Given the description of an element on the screen output the (x, y) to click on. 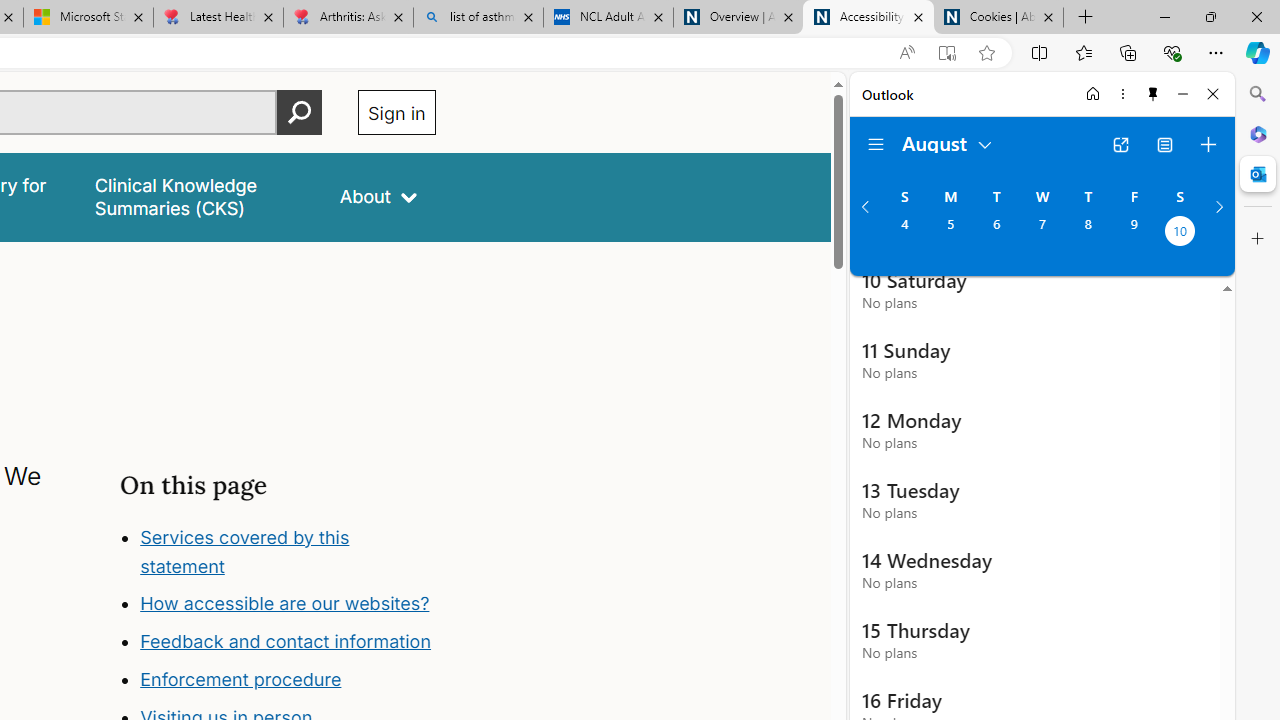
Thursday, August 8, 2024.  (1088, 233)
How accessible are our websites? (284, 603)
View Switcher. Current view is Agenda view (1165, 144)
Folder navigation (876, 144)
August (948, 141)
false (198, 196)
